Given the description of an element on the screen output the (x, y) to click on. 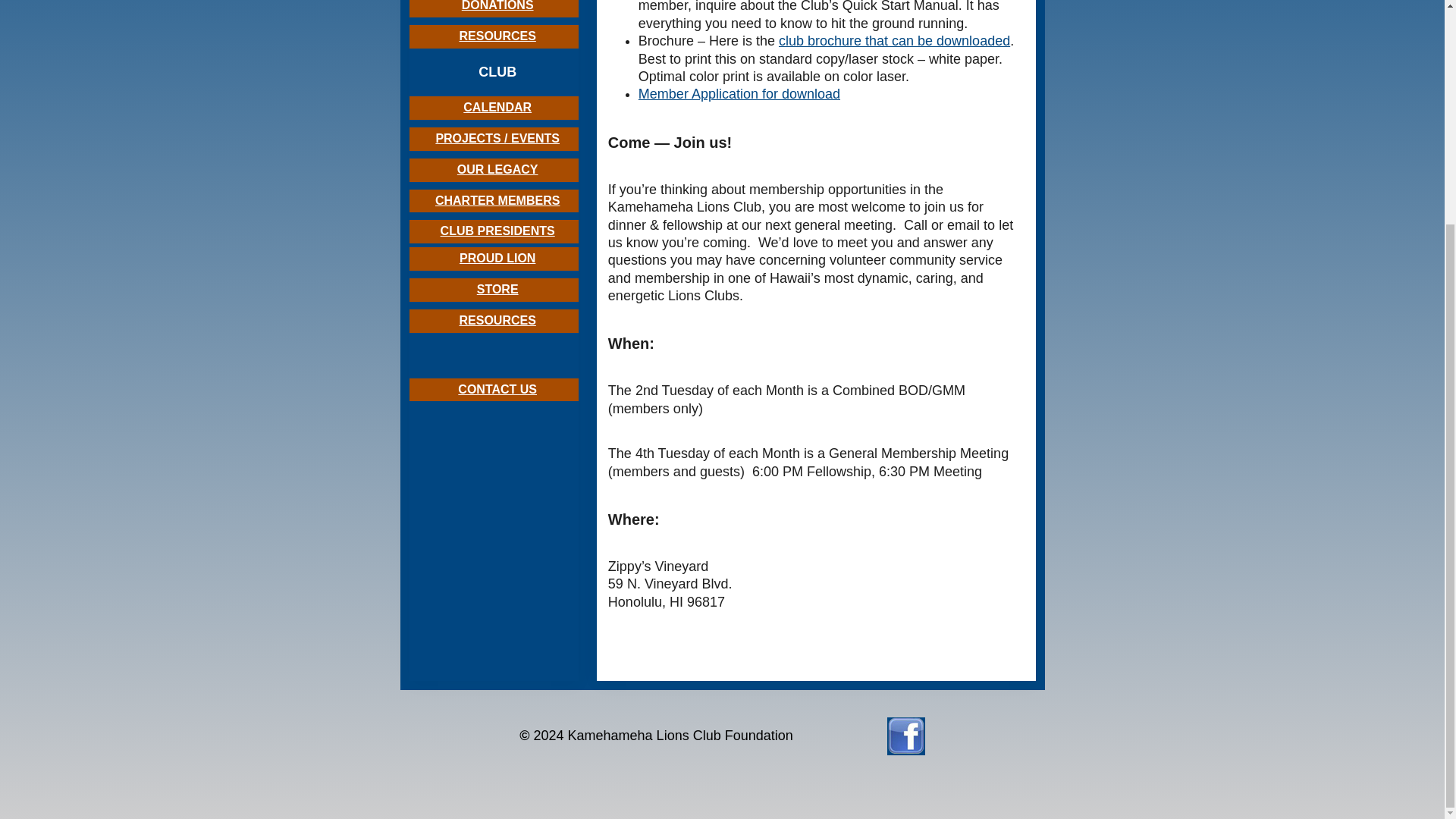
PROUD LION (497, 257)
STORE (497, 288)
RESOURCES (497, 35)
DONATIONS (497, 5)
CLUB PRESIDENTS (497, 230)
club brochure that can be downloaded (894, 40)
CONTACT US (497, 389)
RESOURCES (497, 319)
CHARTER MEMBERS (497, 200)
OUR LEGACY (497, 169)
Member Application for download (739, 93)
CALENDAR (497, 106)
